Given the description of an element on the screen output the (x, y) to click on. 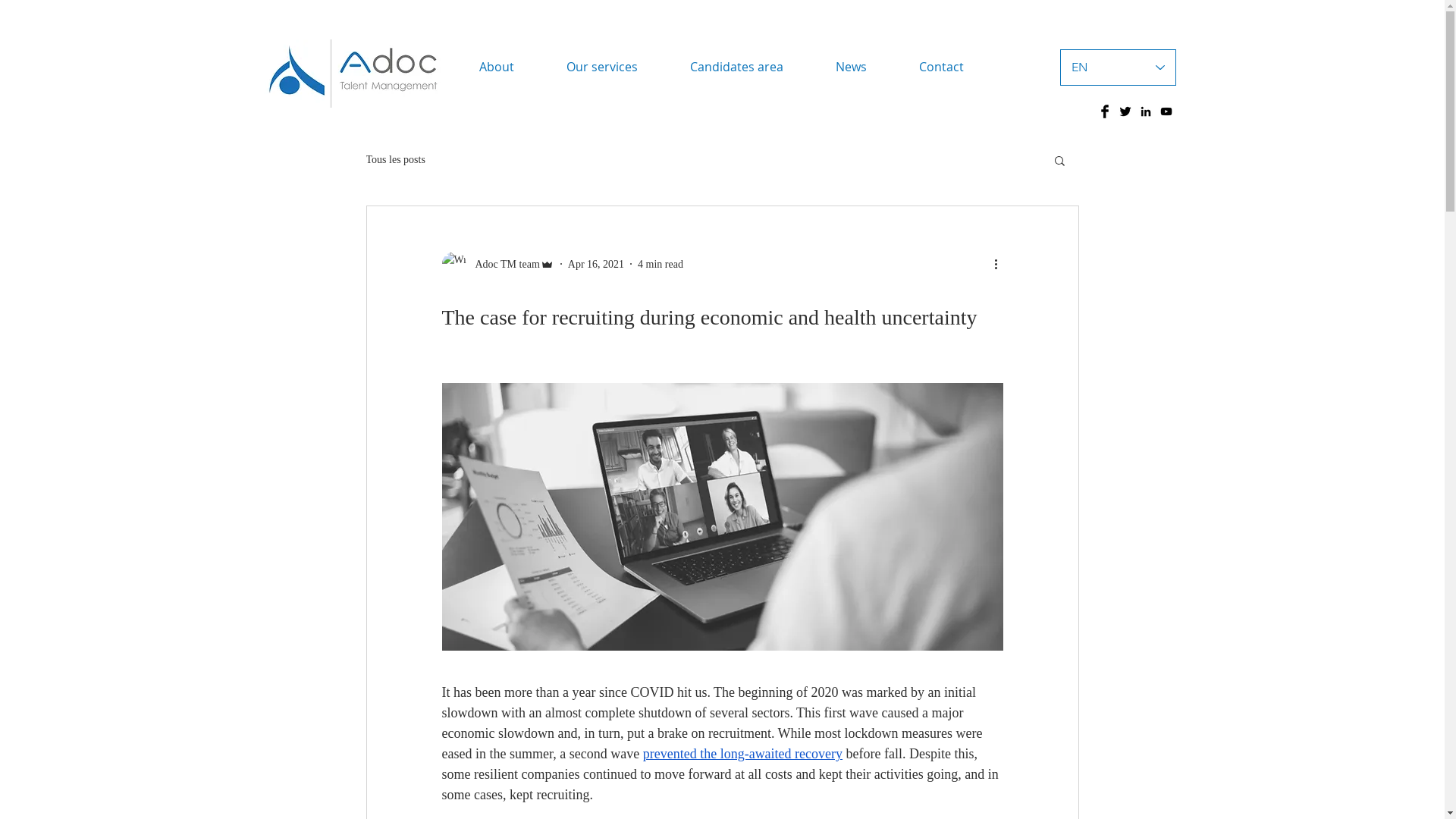
Candidates area Element type: text (736, 66)
Adoc TM team Element type: text (497, 263)
prevented the long-awaited recovery Element type: text (742, 753)
Contact Element type: text (941, 66)
Tous les posts Element type: text (394, 159)
